Given the description of an element on the screen output the (x, y) to click on. 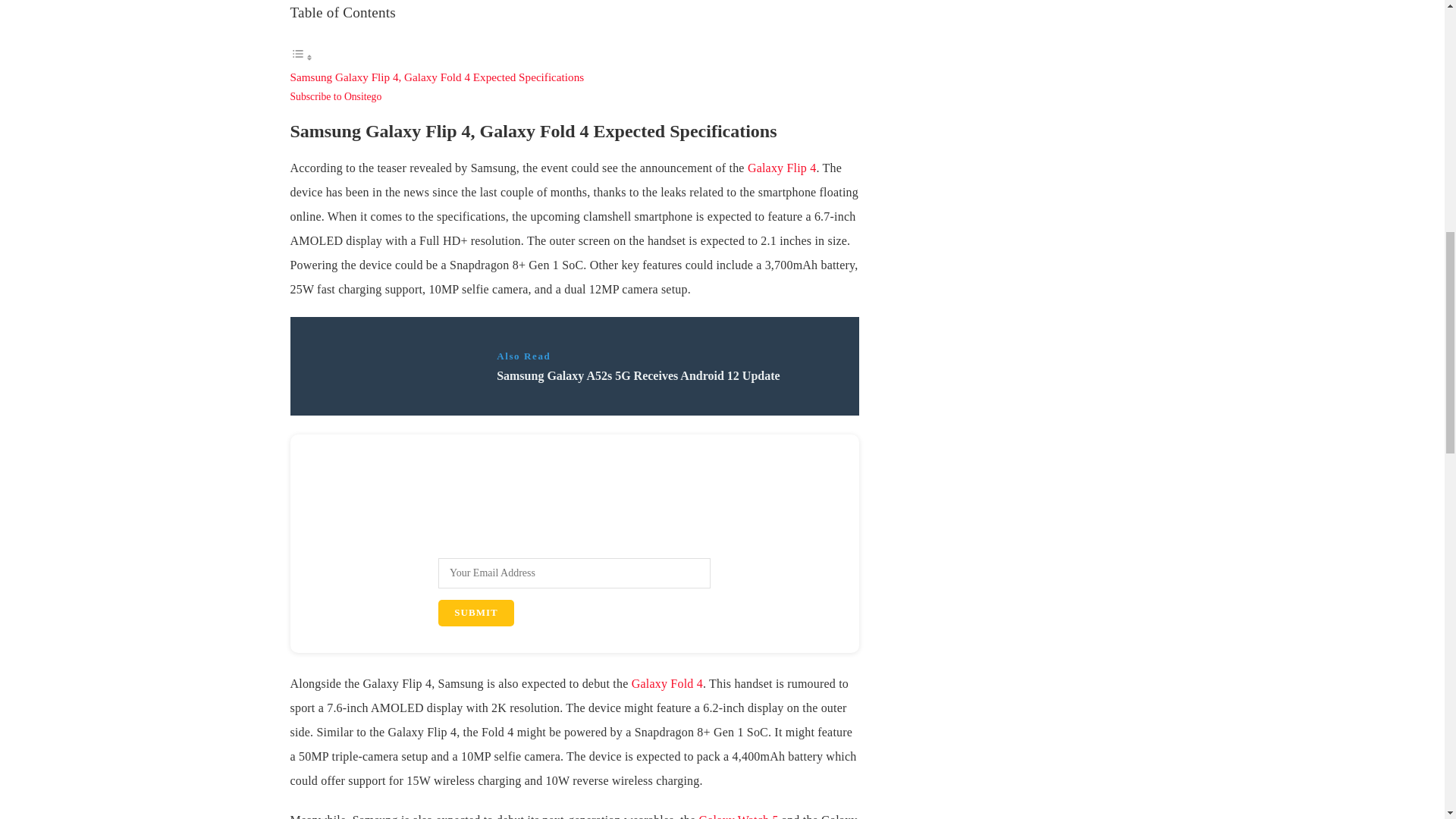
Subscribe to Onsitego (335, 96)
Samsung Galaxy Flip 4, Galaxy Fold 4 Expected Specifications (436, 76)
Submit (475, 612)
